Given the description of an element on the screen output the (x, y) to click on. 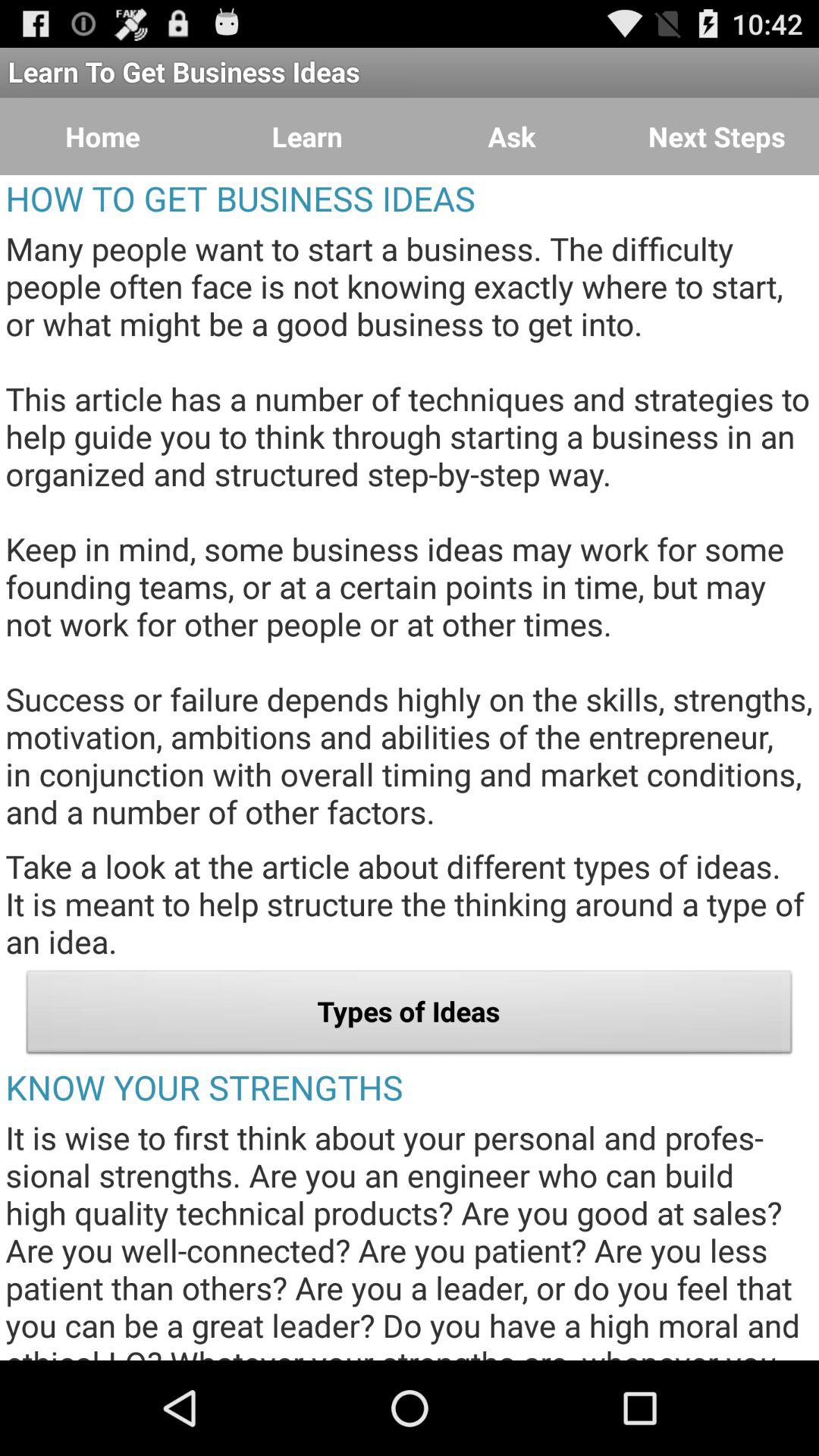
tap next steps item (716, 136)
